Given the description of an element on the screen output the (x, y) to click on. 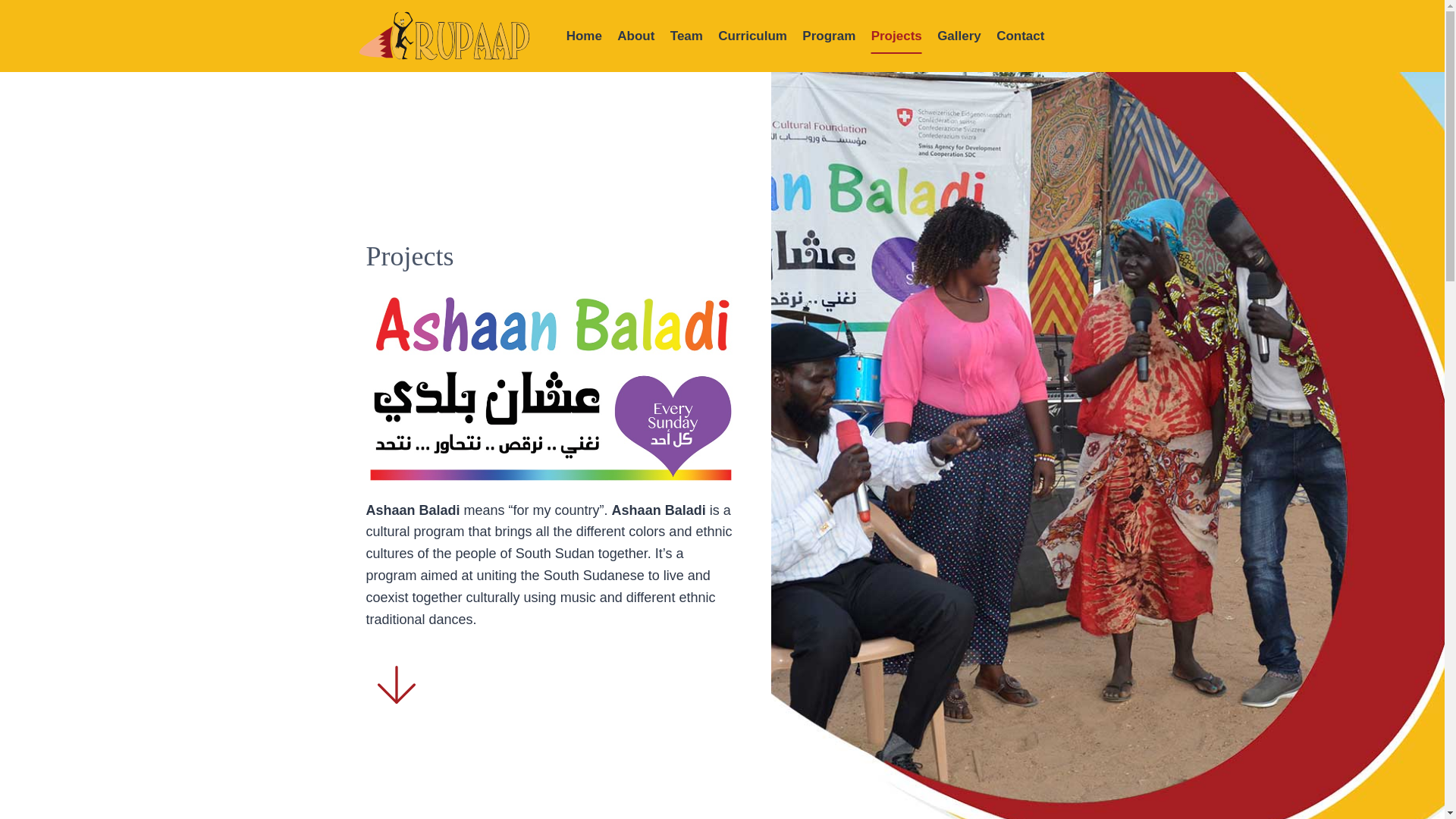
Team (686, 36)
Home (583, 36)
Projects (895, 36)
Gallery (959, 36)
About (636, 36)
Program (828, 36)
Curriculum (752, 36)
Contact (1020, 36)
